Given the description of an element on the screen output the (x, y) to click on. 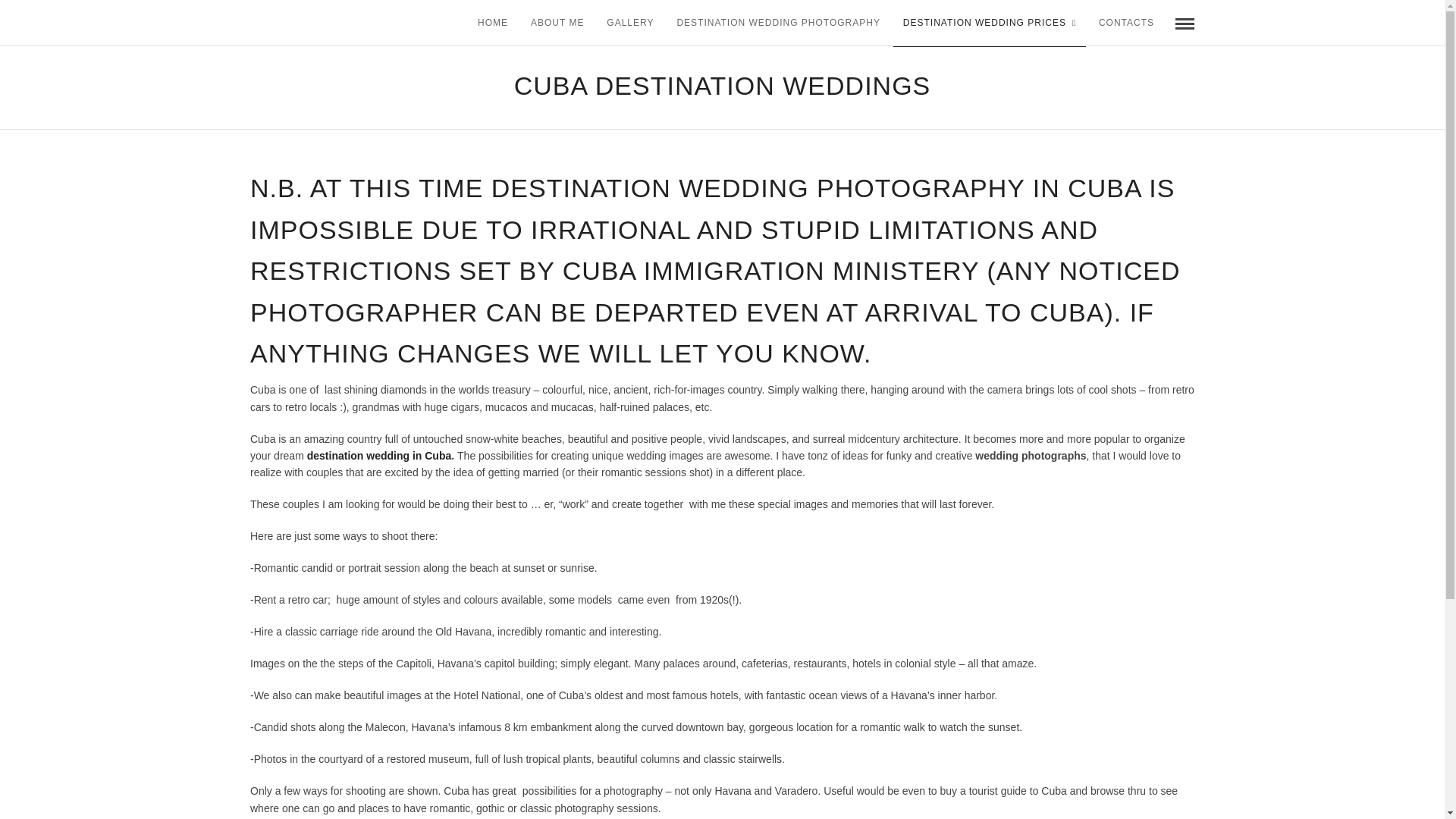
destination wedding in Cuba (379, 455)
ABOUT ME (557, 23)
DESTINATION WEDDING PRICES (989, 23)
CONTACTS (1126, 23)
DESTINATION WEDDING PHOTOGRAPHY (777, 23)
HOME (492, 23)
destination weddings in Cuba (379, 455)
GALLERY (629, 23)
